Given the description of an element on the screen output the (x, y) to click on. 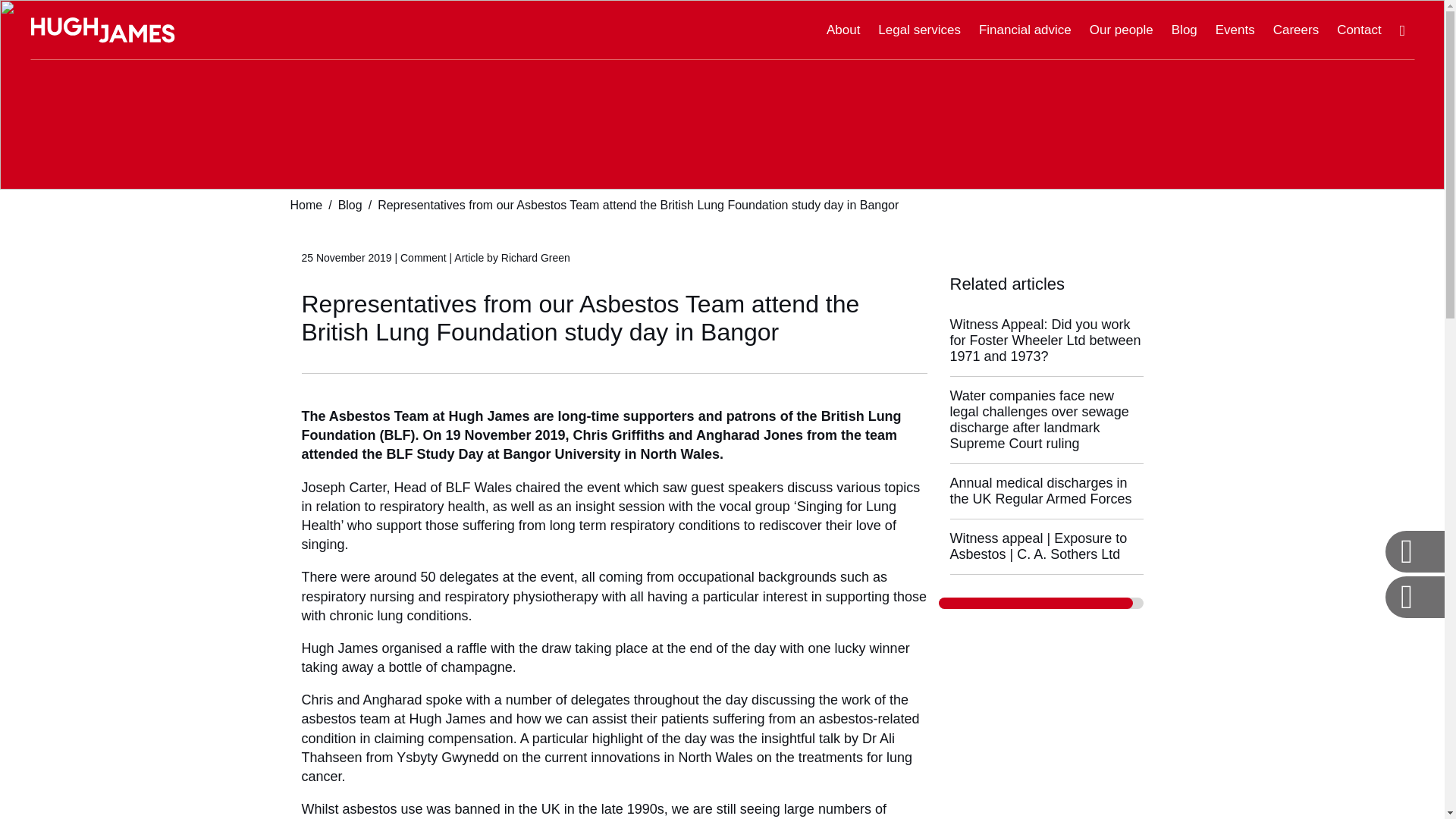
Legal services (919, 29)
About (842, 29)
